Given the description of an element on the screen output the (x, y) to click on. 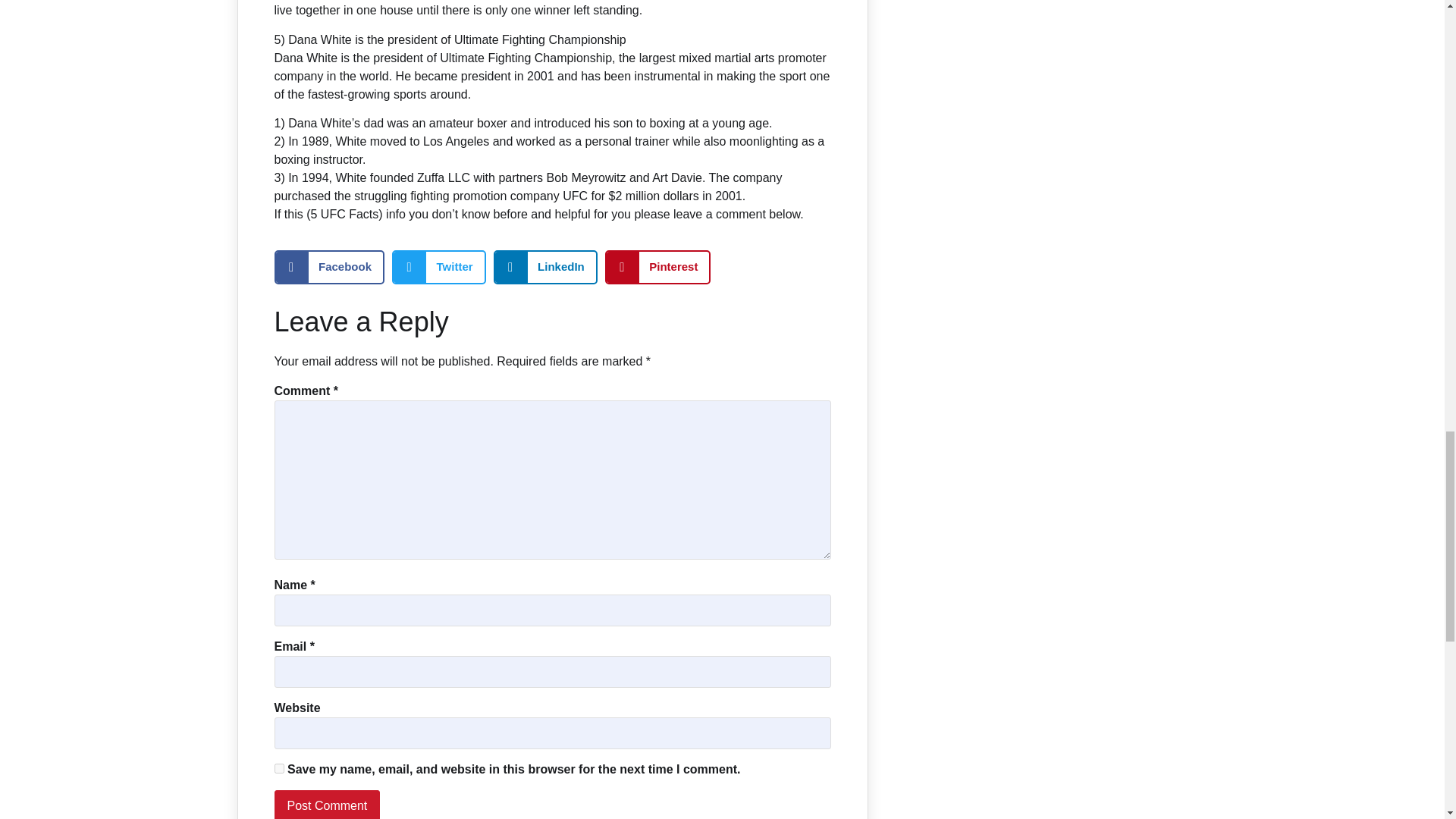
yes (279, 768)
Post Comment (327, 804)
Post Comment (327, 804)
